Given the description of an element on the screen output the (x, y) to click on. 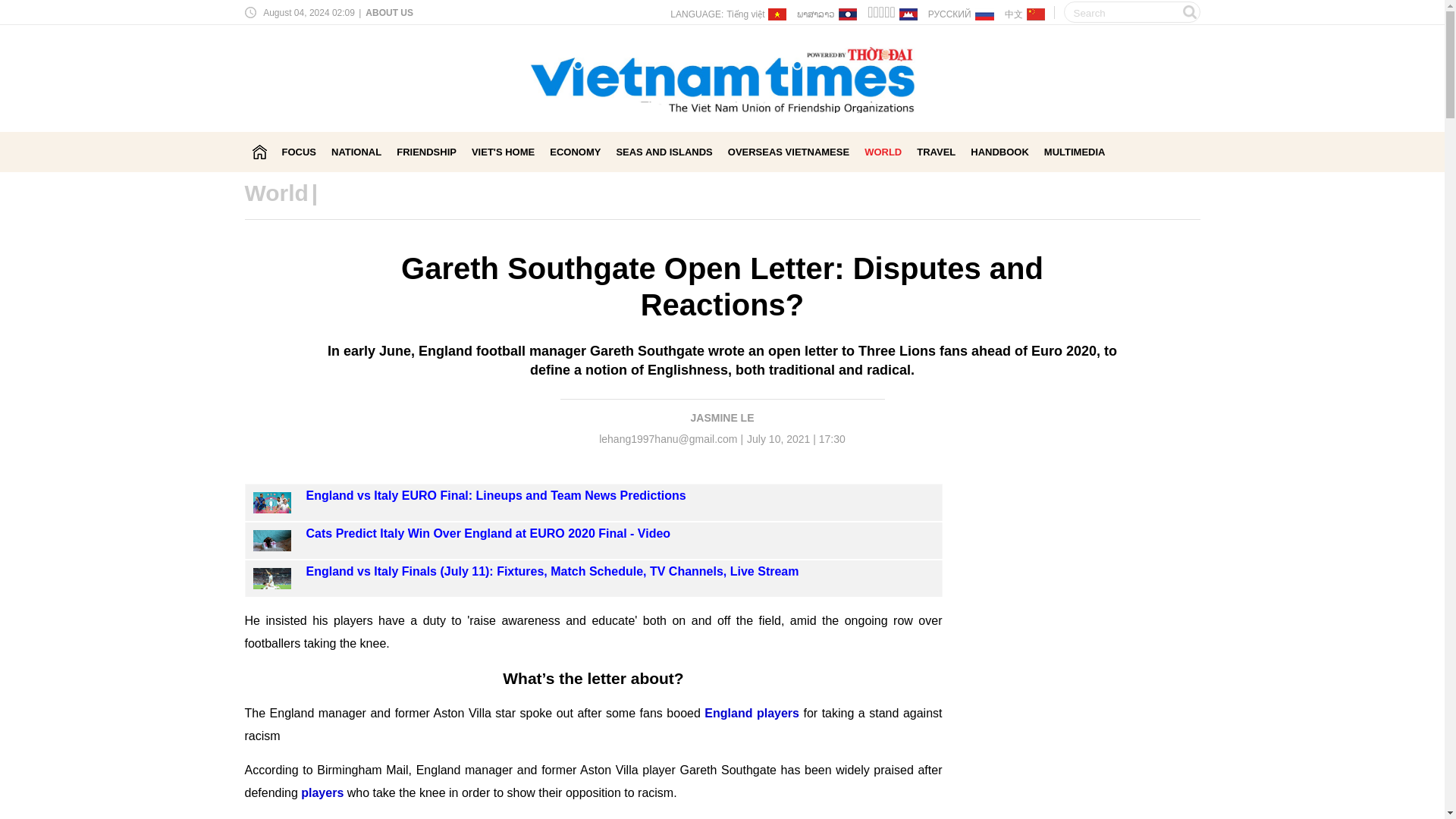
SEAS AND ISLANDS (663, 152)
MULTIMEDIA (1074, 152)
HANDBOOK (1000, 152)
ABOUT US (388, 12)
TRAVEL (936, 152)
OVERSEAS VIETNAMESE (788, 152)
VIET'S HOME (502, 152)
ECONOMY (574, 152)
JASMINE LE (722, 417)
World (275, 192)
WORLD (882, 152)
players (323, 792)
